Given the description of an element on the screen output the (x, y) to click on. 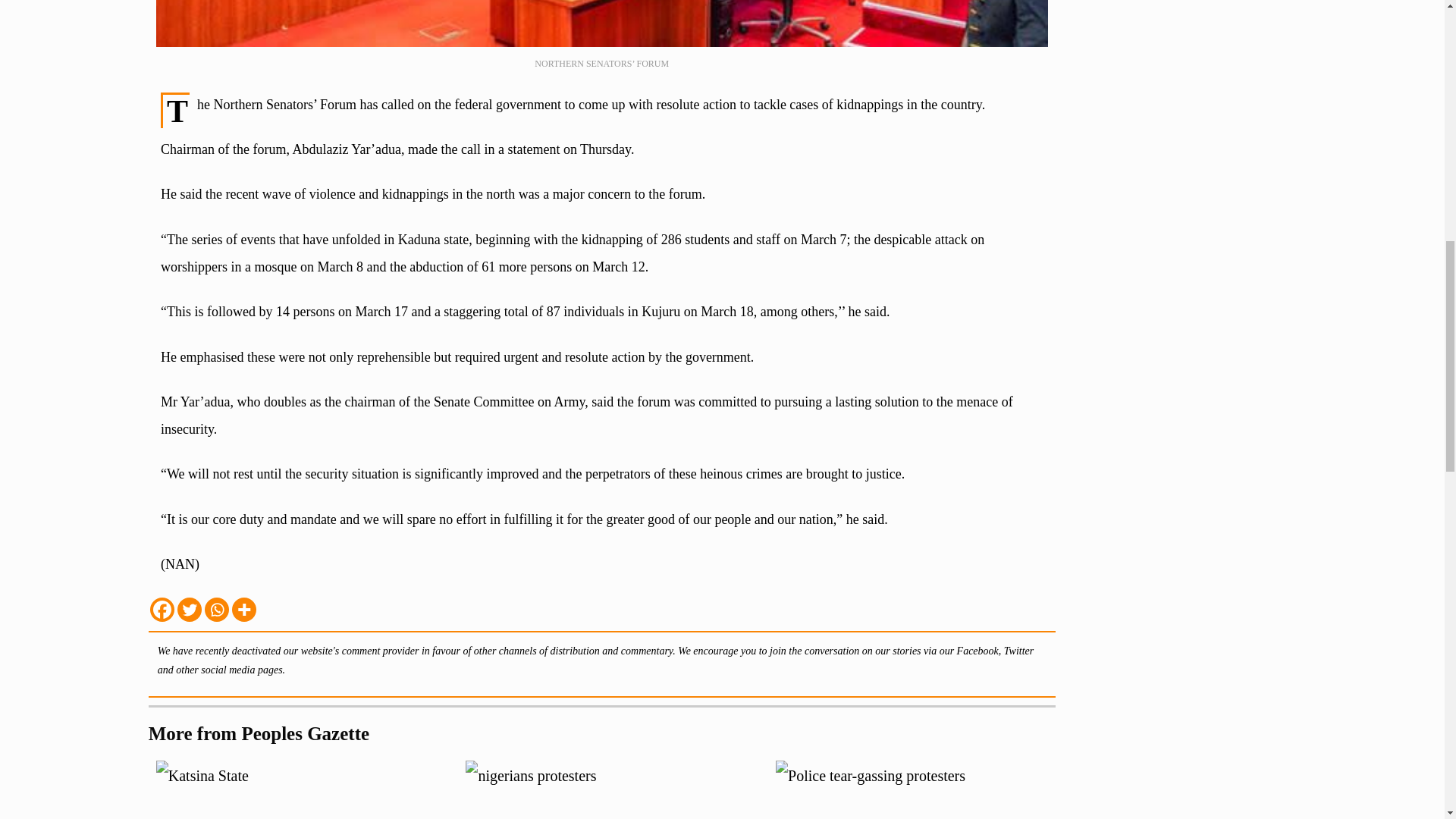
Twitter (189, 609)
Facebook (161, 609)
Whatsapp (216, 609)
More (243, 609)
